Given the description of an element on the screen output the (x, y) to click on. 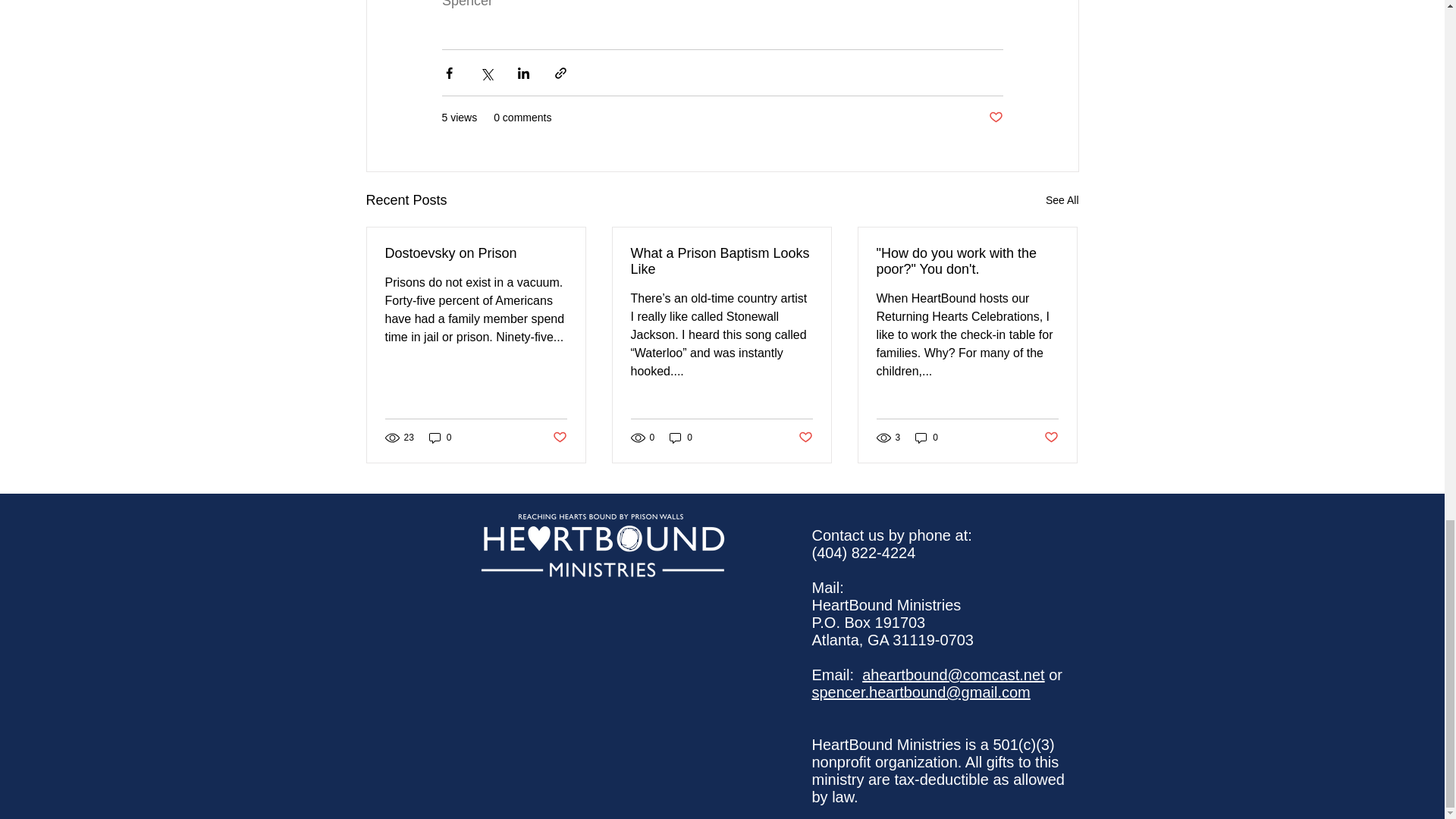
What a Prison Baptism Looks Like (721, 261)
0 (440, 436)
Dostoevsky on Prison (476, 253)
Post not marked as liked (995, 117)
0 (681, 436)
See All (1061, 200)
"How do you work with the poor?" You don't. (967, 261)
0 (926, 436)
Post not marked as liked (1050, 437)
Post not marked as liked (804, 437)
